Given the description of an element on the screen output the (x, y) to click on. 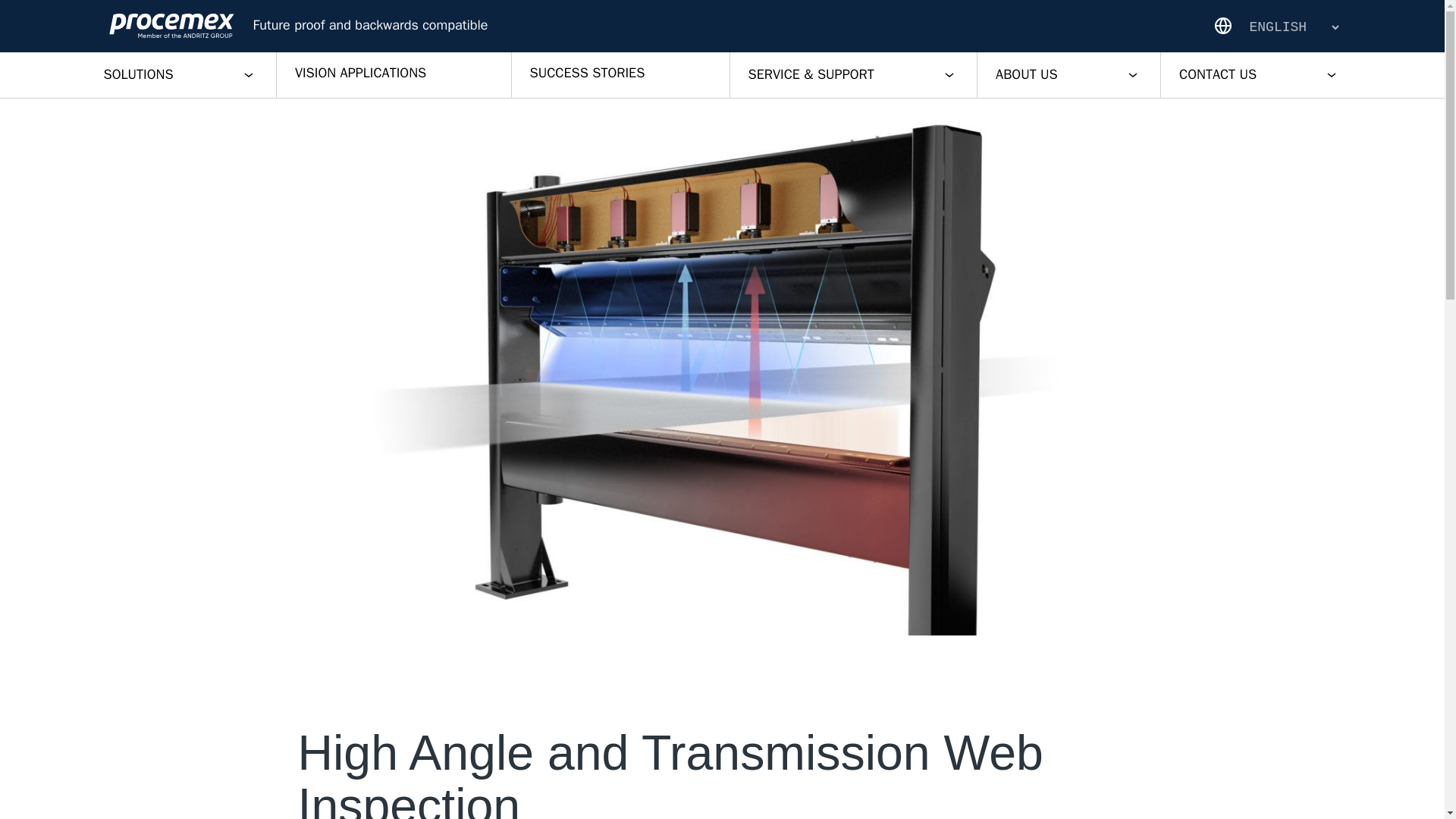
ABOUT US (1068, 74)
SUCCESS STORIES (620, 73)
SOLUTIONS (179, 74)
VISION APPLICATIONS (393, 73)
